Given the description of an element on the screen output the (x, y) to click on. 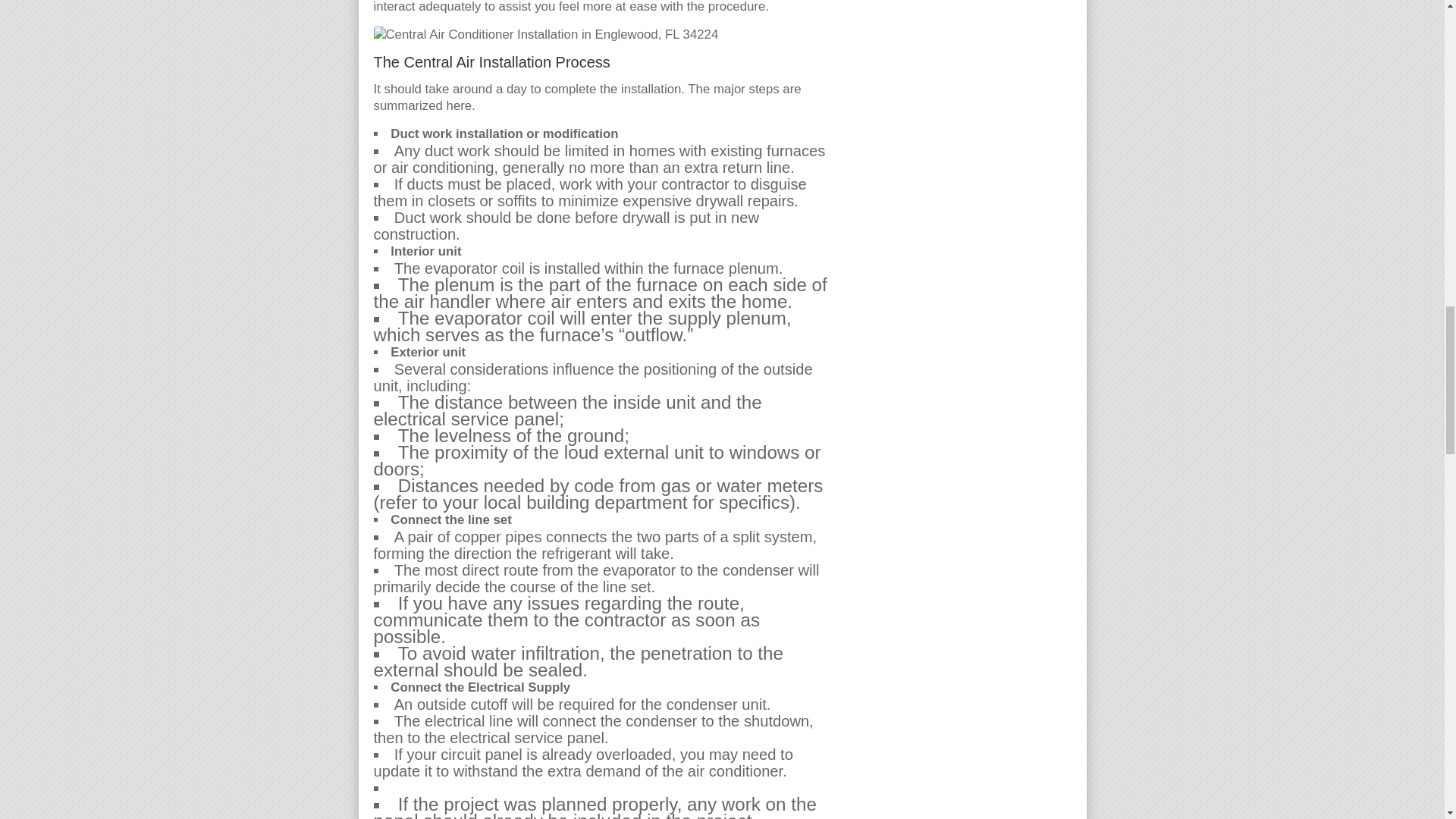
Central Air Conditioner Installation in Englewood, FL 34224 (544, 34)
